Given the description of an element on the screen output the (x, y) to click on. 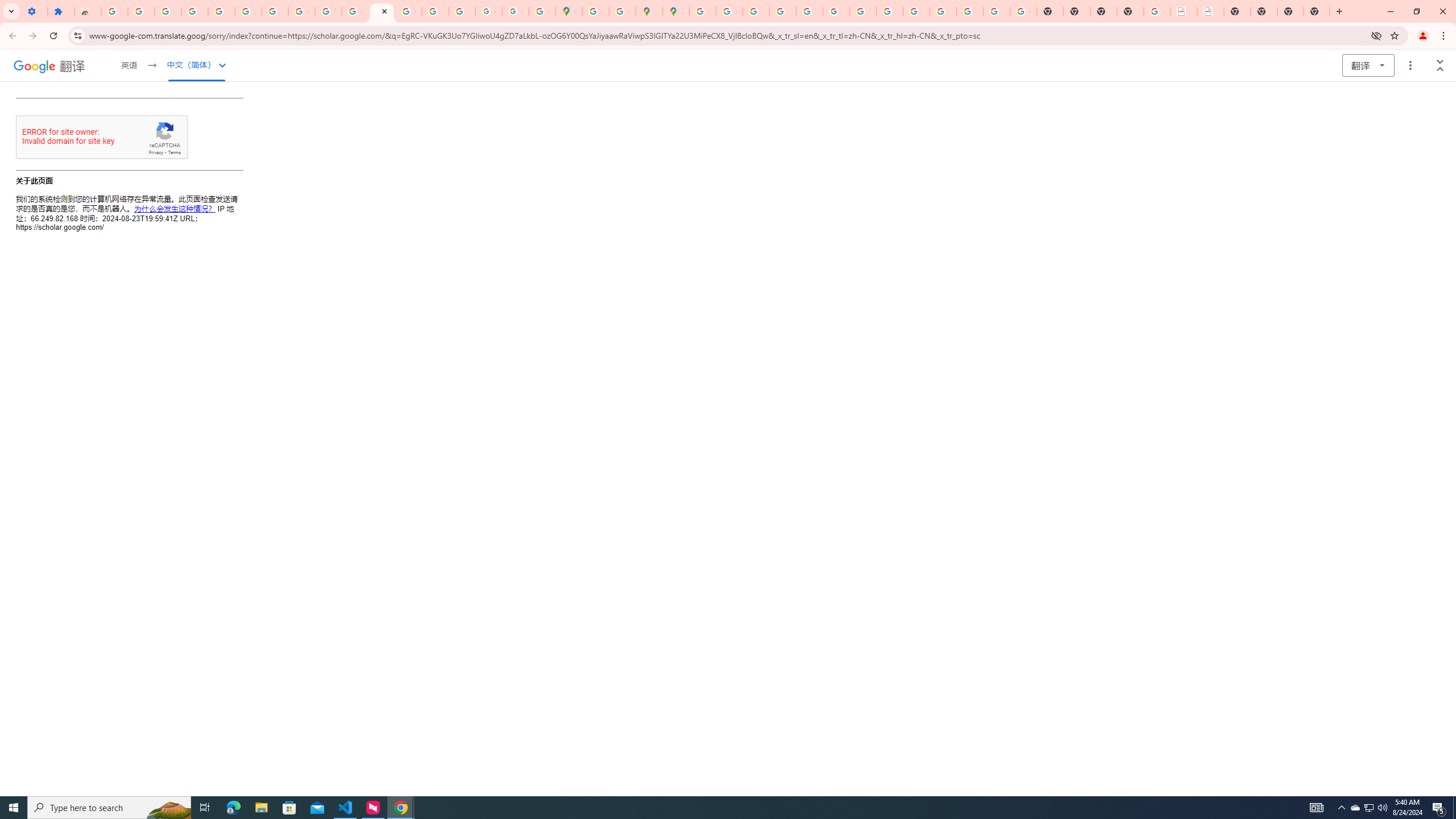
Sign in - Google Accounts (248, 11)
Extensions (61, 11)
https://scholar.google.com/ (382, 11)
YouTube (862, 11)
Privacy Help Center - Policies Help (756, 11)
